Given the description of an element on the screen output the (x, y) to click on. 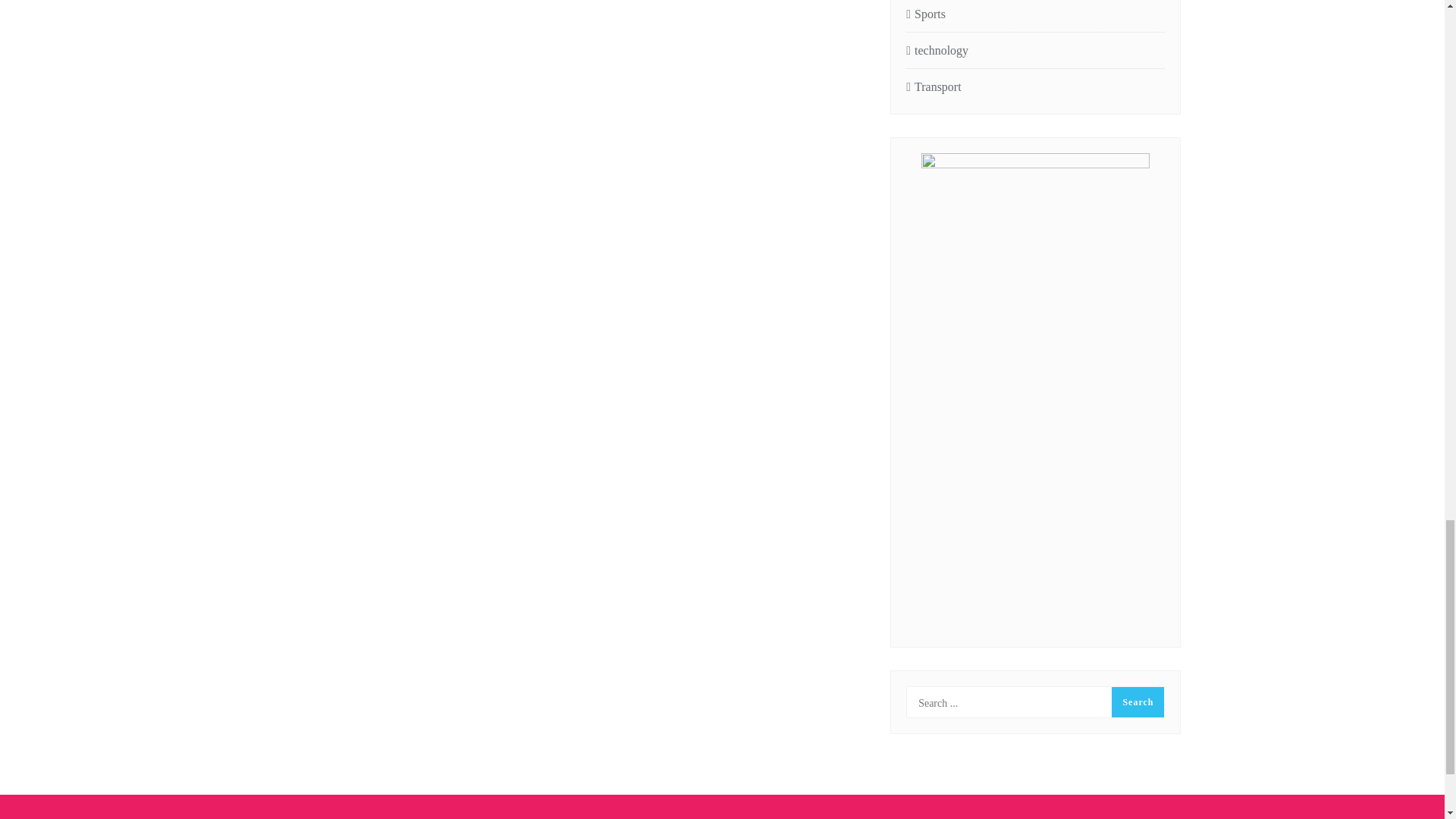
Sports (924, 14)
Search (1137, 702)
Search (1137, 702)
